Given the description of an element on the screen output the (x, y) to click on. 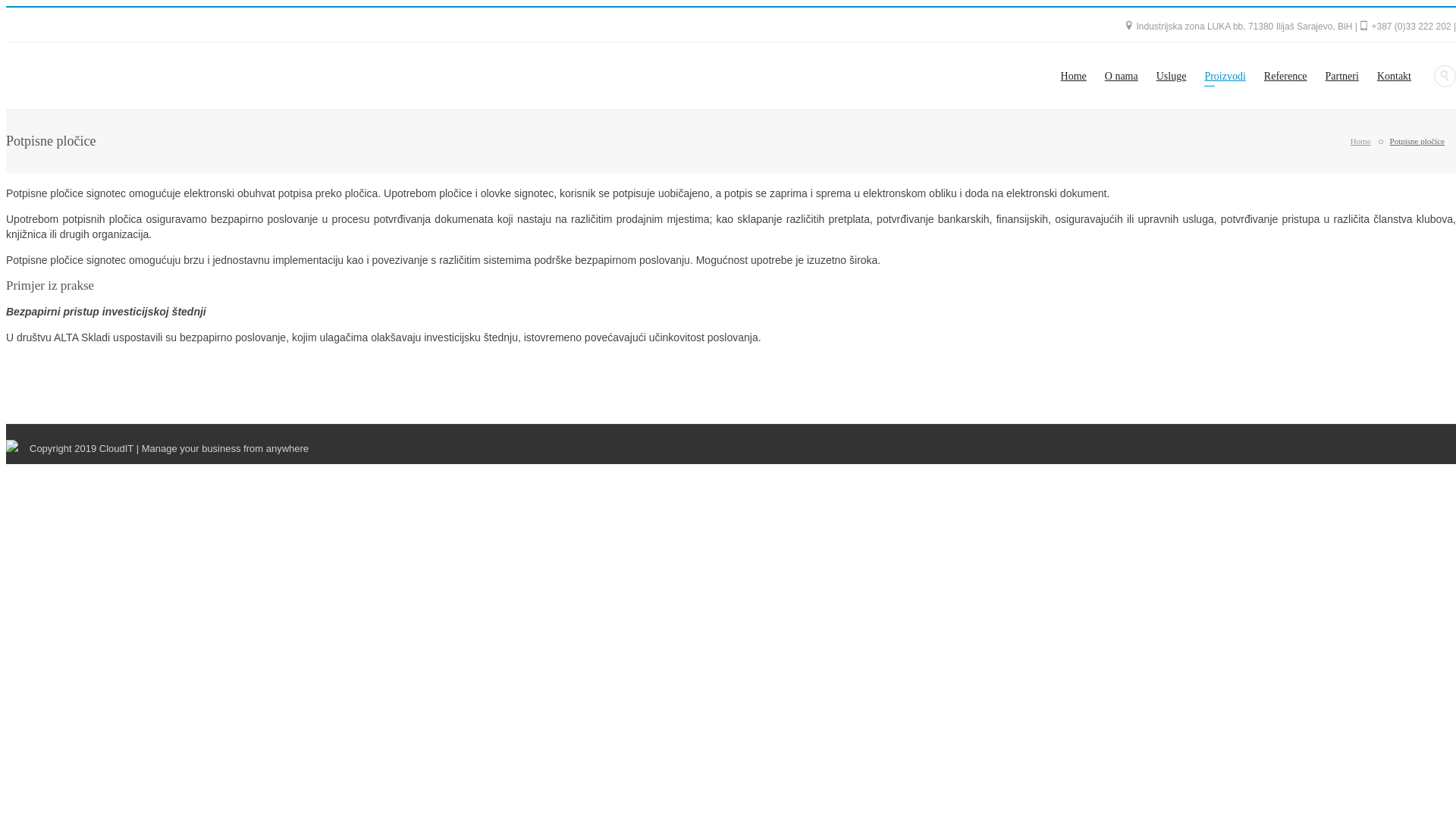
Reference Element type: text (1285, 76)
Usluge Element type: text (1171, 76)
Kontakt Element type: text (1389, 76)
Partneri Element type: text (1342, 76)
Home Element type: text (1073, 76)
Home Element type: text (1360, 140)
Proizvodi Element type: text (1224, 76)
O nama Element type: text (1121, 76)
